Given the description of an element on the screen output the (x, y) to click on. 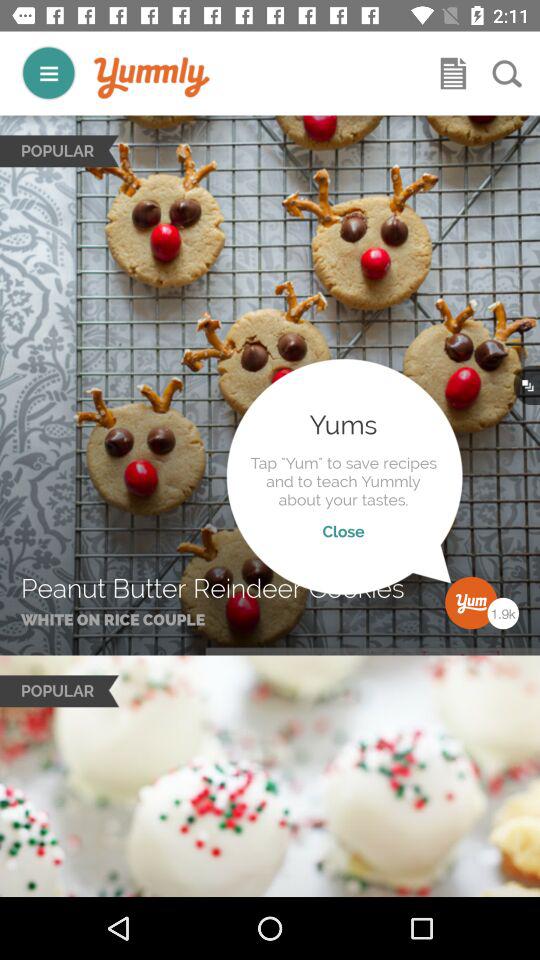
open menu (453, 73)
